Given the description of an element on the screen output the (x, y) to click on. 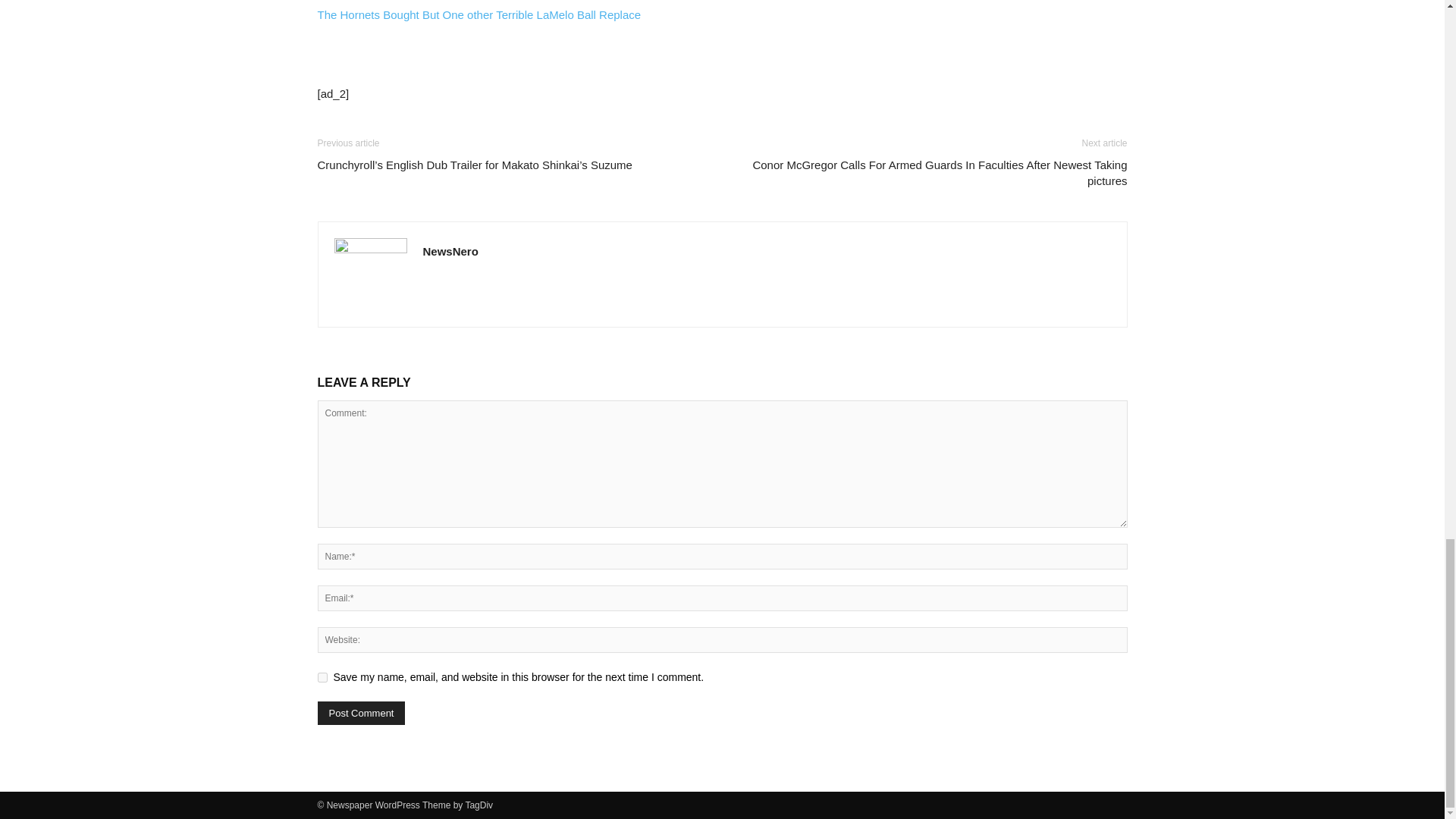
yes (321, 677)
Post Comment (360, 712)
